Given the description of an element on the screen output the (x, y) to click on. 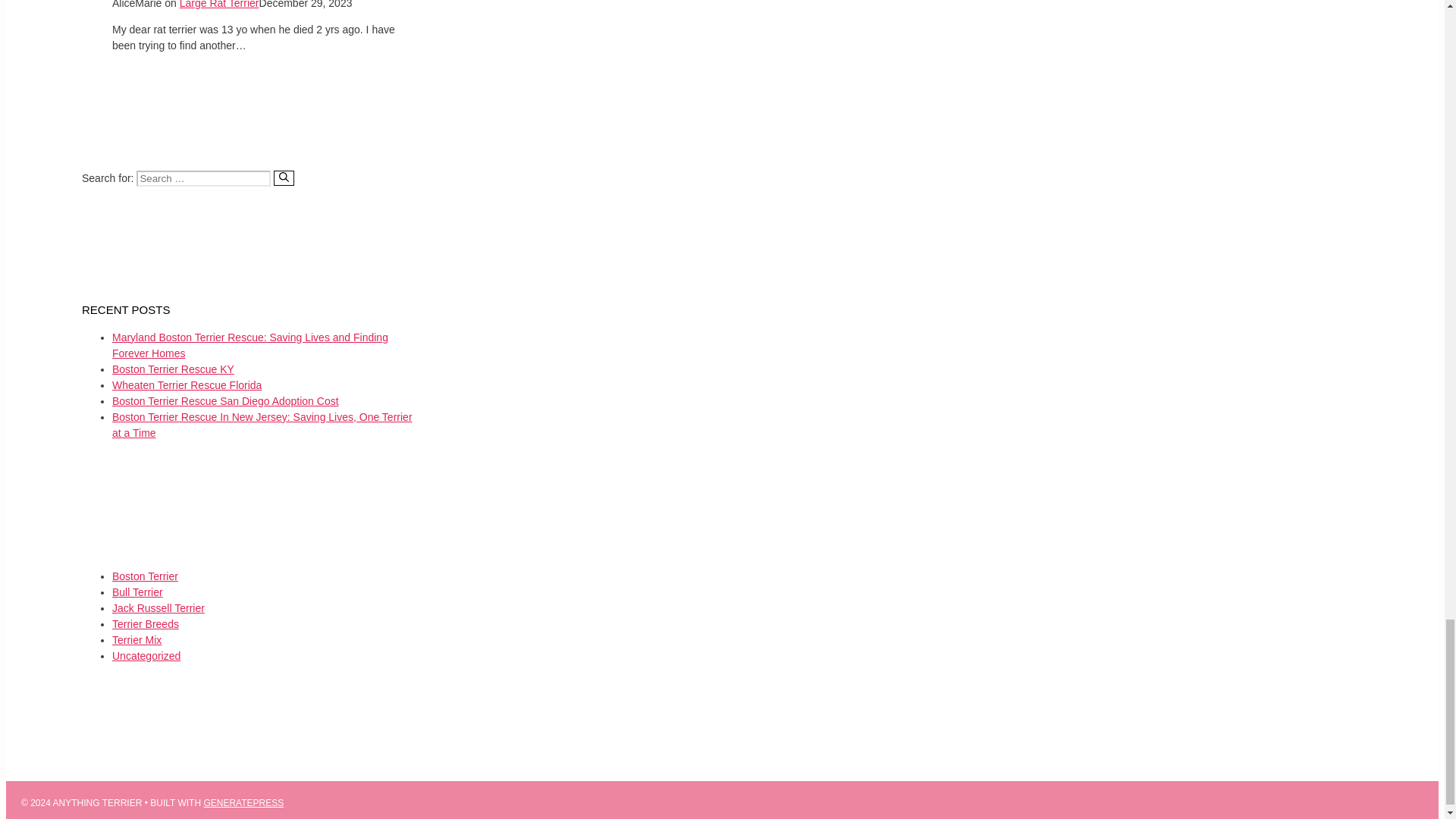
Search for: (203, 178)
Wheaten Terrier Rescue Florida (187, 385)
Large Rat Terrier (219, 4)
Boston Terrier Rescue San Diego Adoption Cost (225, 400)
Boston Terrier Rescue KY (173, 369)
